Given the description of an element on the screen output the (x, y) to click on. 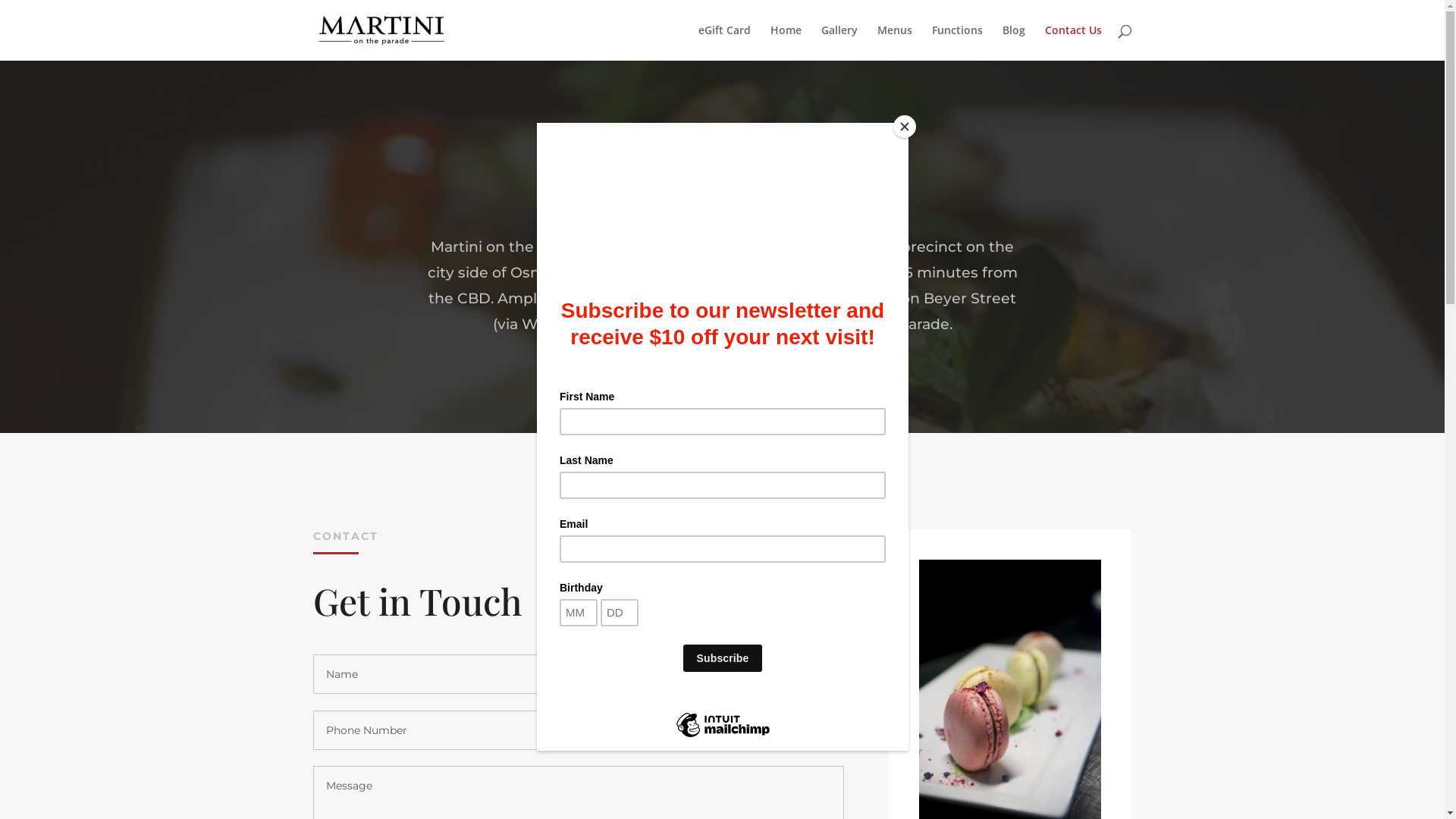
Contact Us Element type: text (1072, 42)
Functions Element type: text (956, 42)
Gallery Element type: text (838, 42)
Menus Element type: text (893, 42)
Blog Element type: text (1013, 42)
eGift Card Element type: text (723, 42)
Home Element type: text (785, 42)
